Given the description of an element on the screen output the (x, y) to click on. 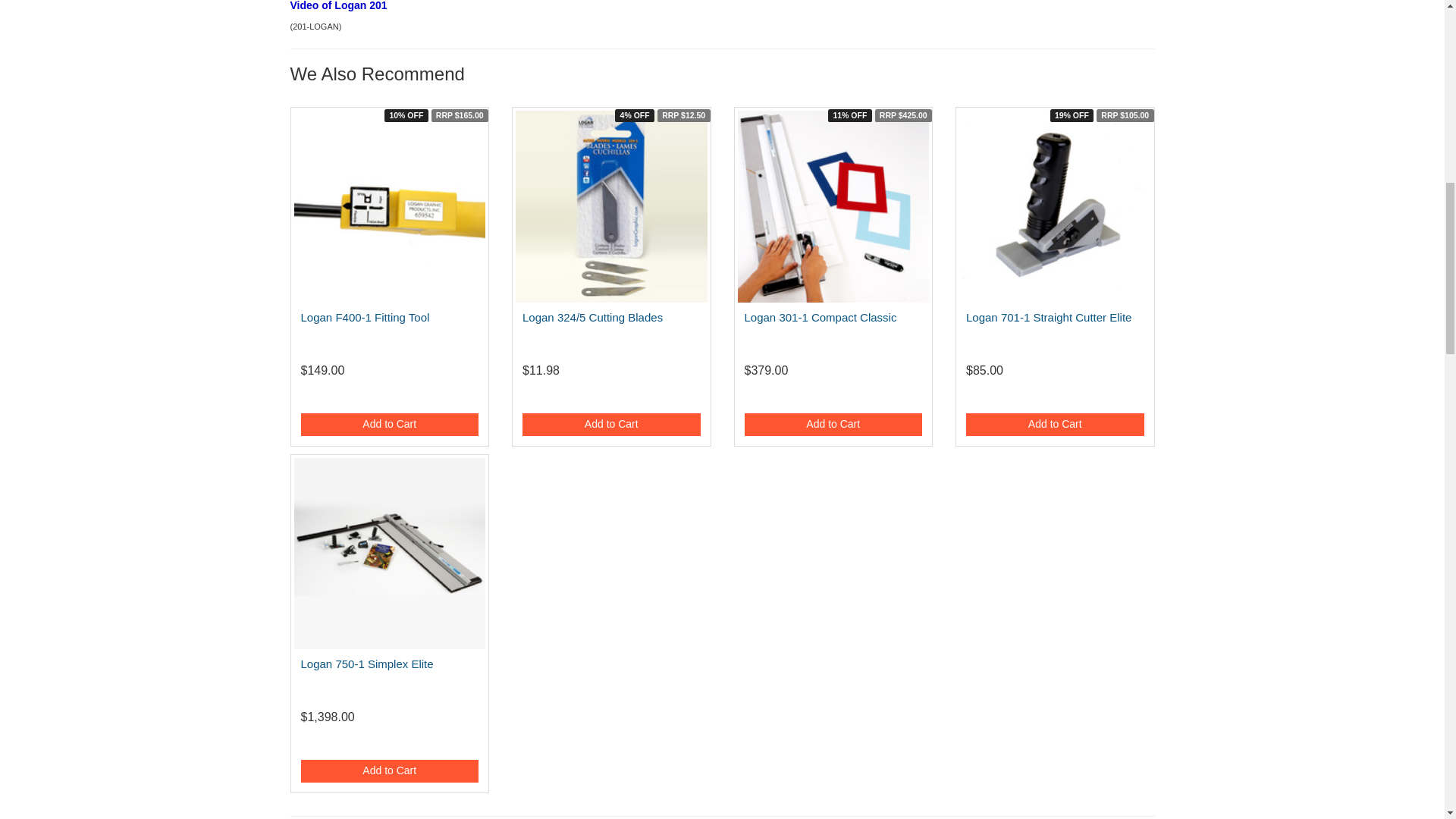
Add to Cart (833, 424)
PayPal Message 2 (389, 396)
Logan F400-1 Fitting Tool (364, 317)
Add to Cart (389, 424)
PayPal Message 3 (611, 396)
PayPal Message 5 (1055, 396)
Logan 701-1 Straight Cutter Elite (1048, 317)
Logan 301-1 Compact Classic (820, 317)
Add to Cart (611, 424)
PayPal Message 4 (833, 396)
